Given the description of an element on the screen output the (x, y) to click on. 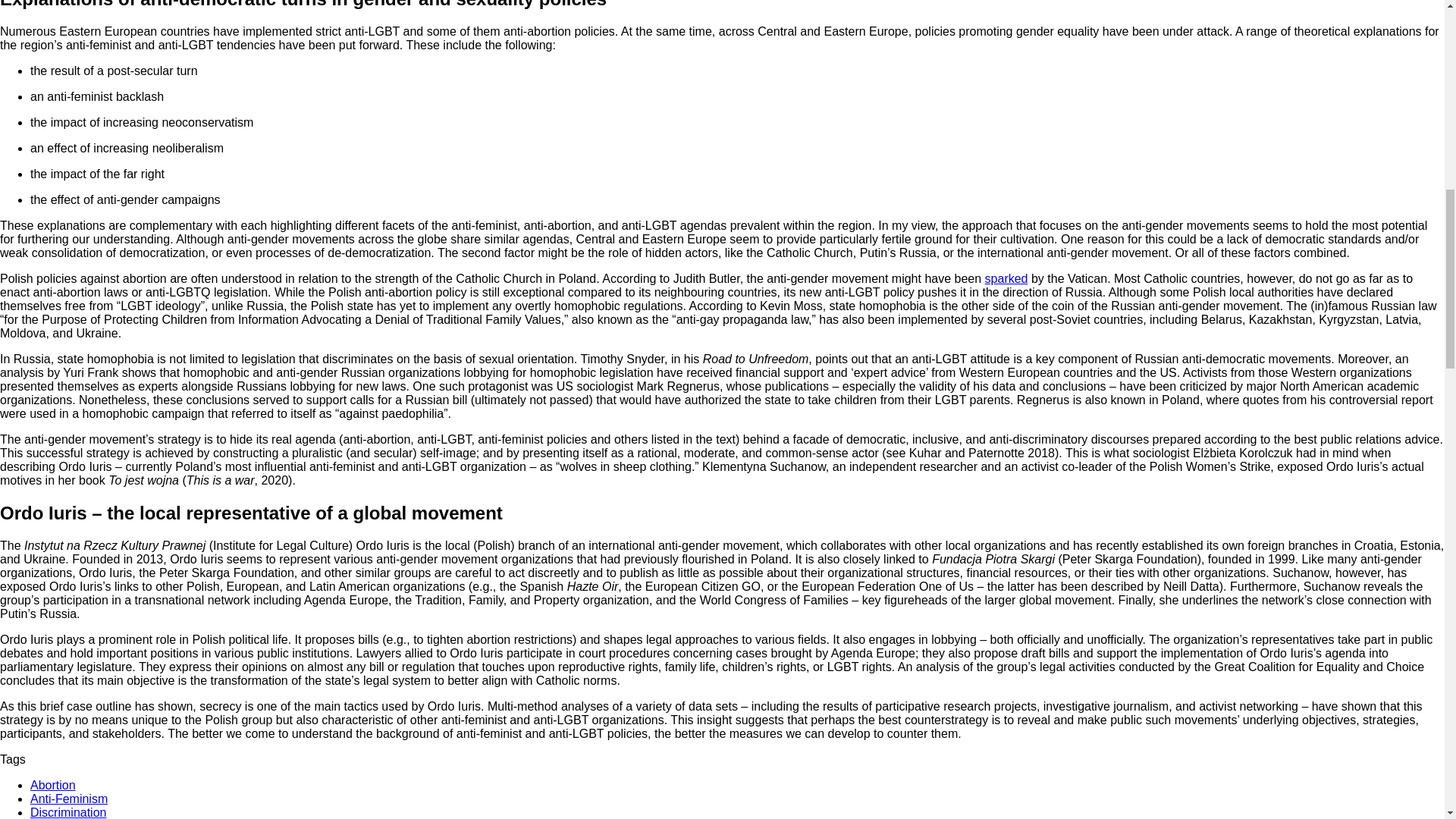
sparked (1006, 278)
Anti-Feminism (68, 798)
Discrimination (68, 812)
Abortion (52, 784)
